Given the description of an element on the screen output the (x, y) to click on. 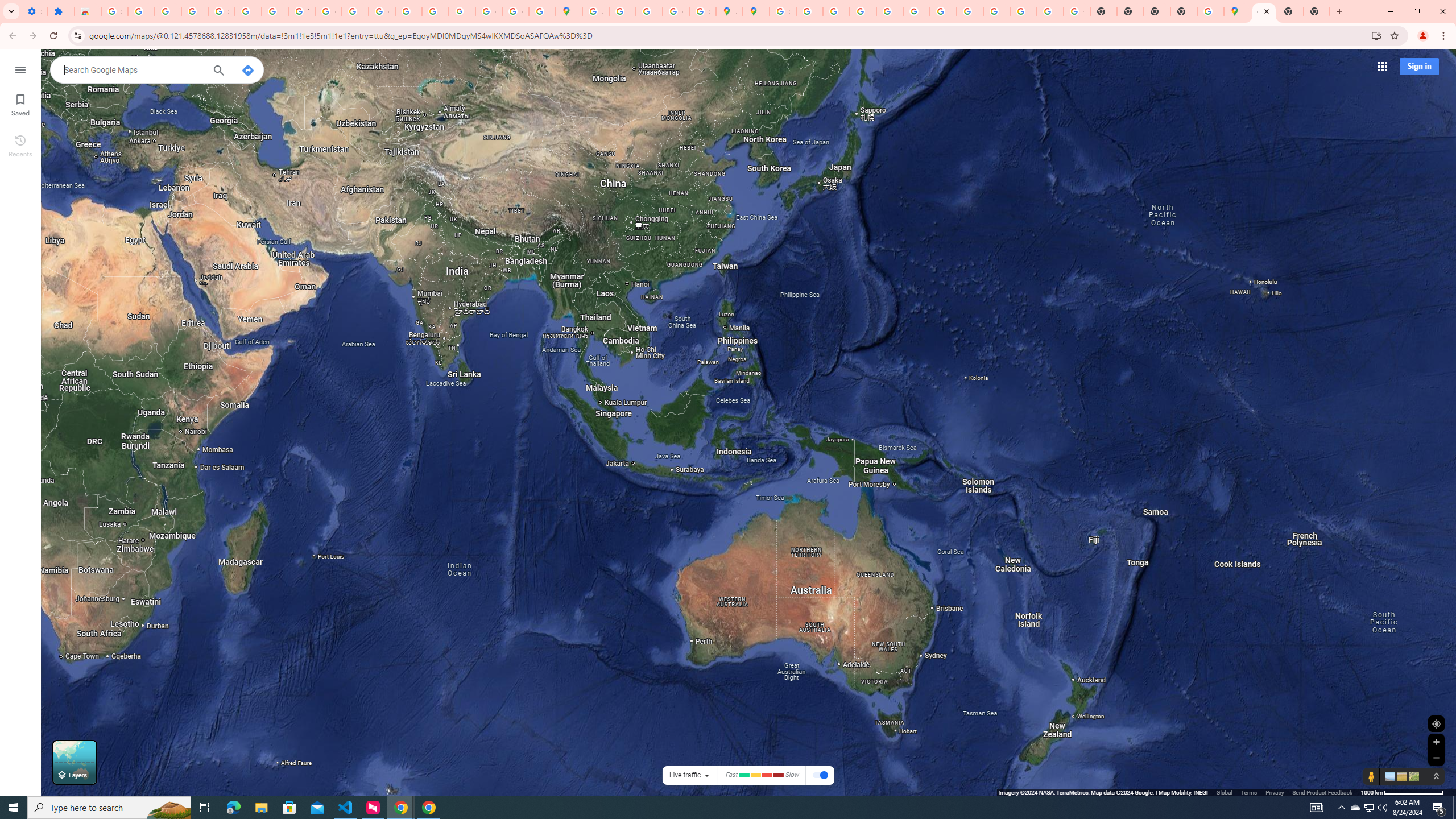
Show Street View coverage (1371, 776)
Saved (20, 104)
Show Your Location (1436, 723)
